Given the description of an element on the screen output the (x, y) to click on. 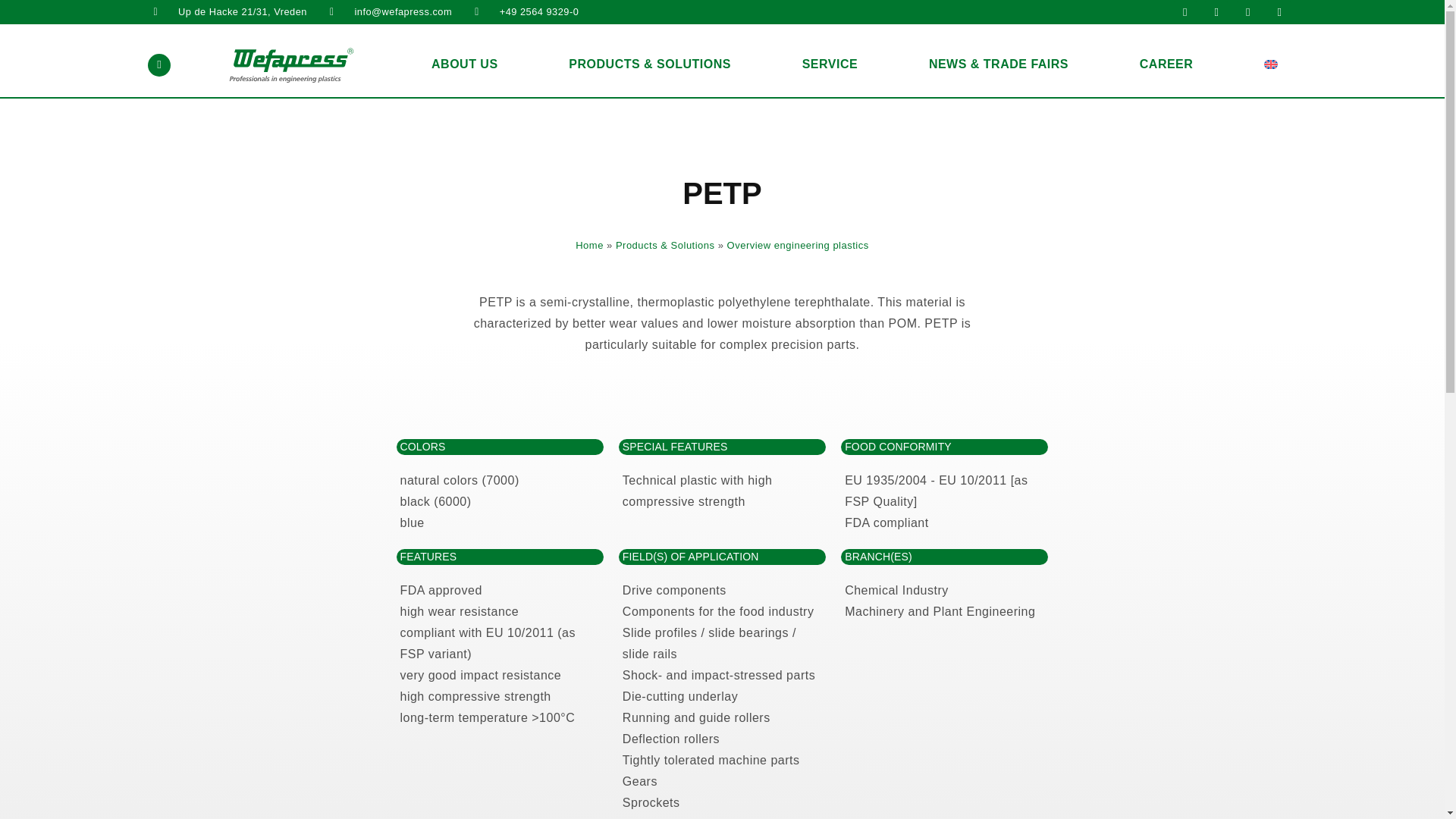
SERVICE (830, 64)
ABOUT US (464, 64)
